Given the description of an element on the screen output the (x, y) to click on. 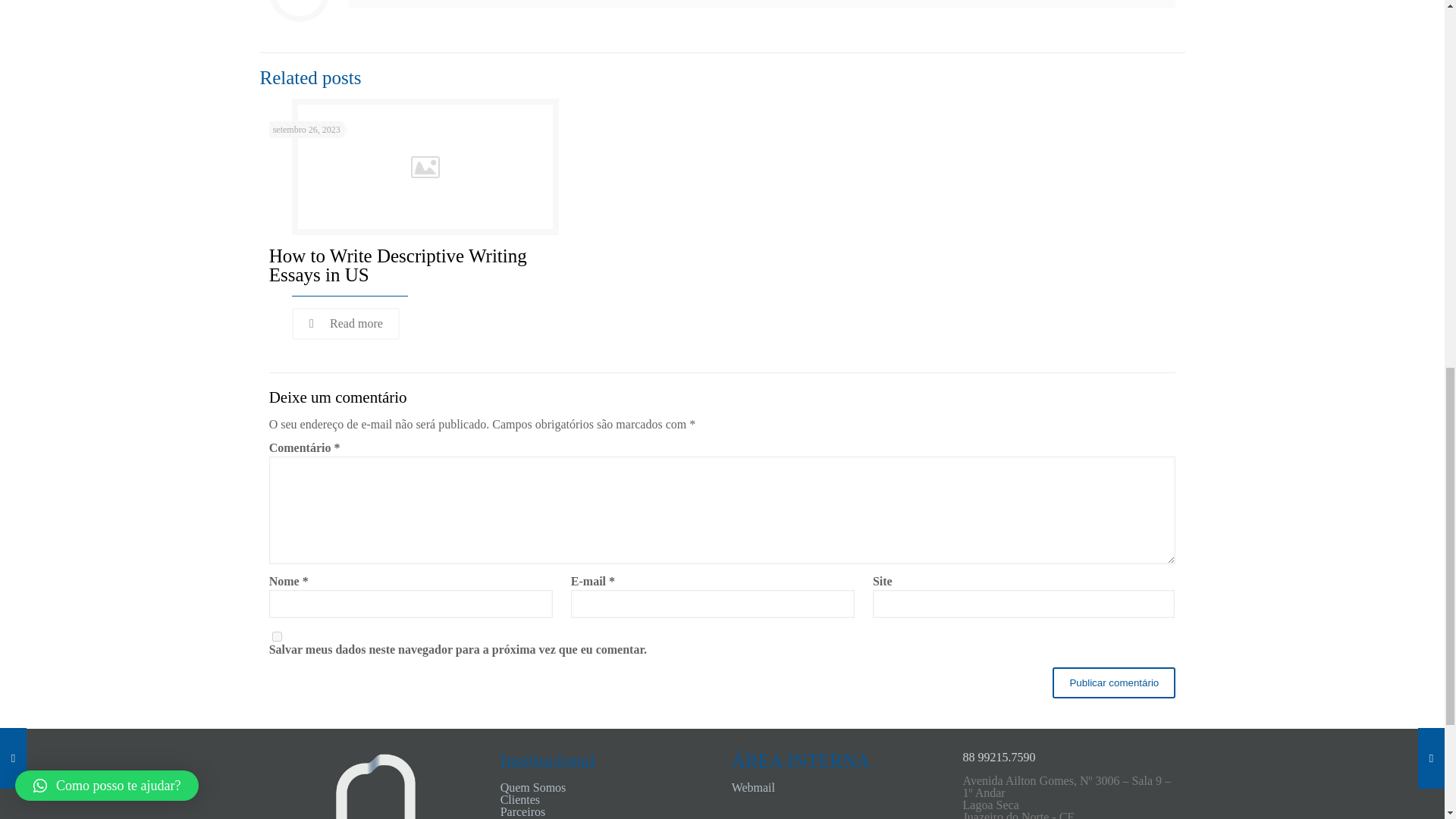
Read more (345, 323)
Contato (519, 818)
Clientes (520, 799)
yes (277, 636)
Parceiros (523, 811)
How to Write Descriptive Writing Essays in US (398, 265)
Webmail (753, 787)
Quem Somos (533, 787)
